Given the description of an element on the screen output the (x, y) to click on. 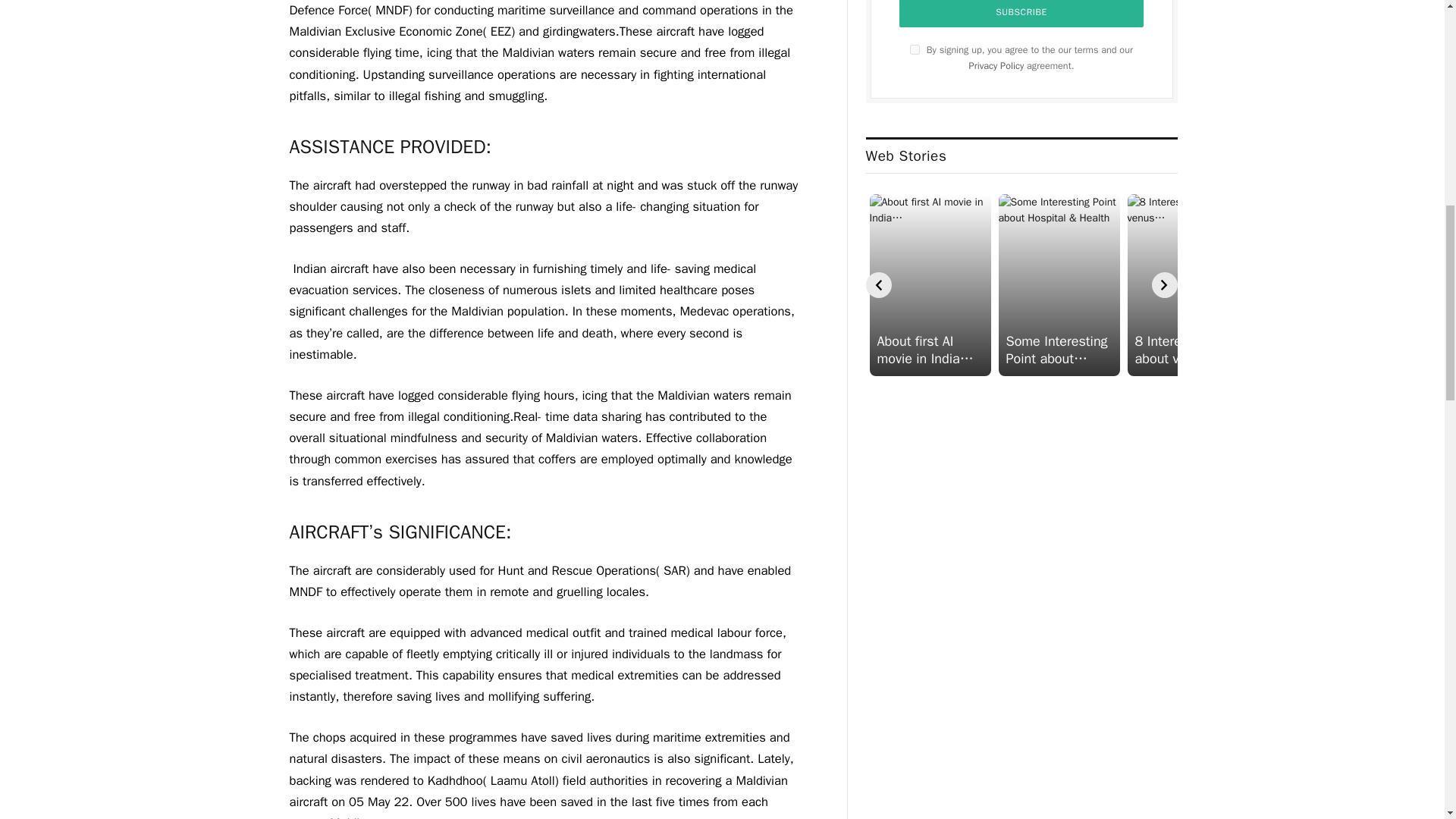
on (915, 49)
Subscribe (1020, 13)
